Given the description of an element on the screen output the (x, y) to click on. 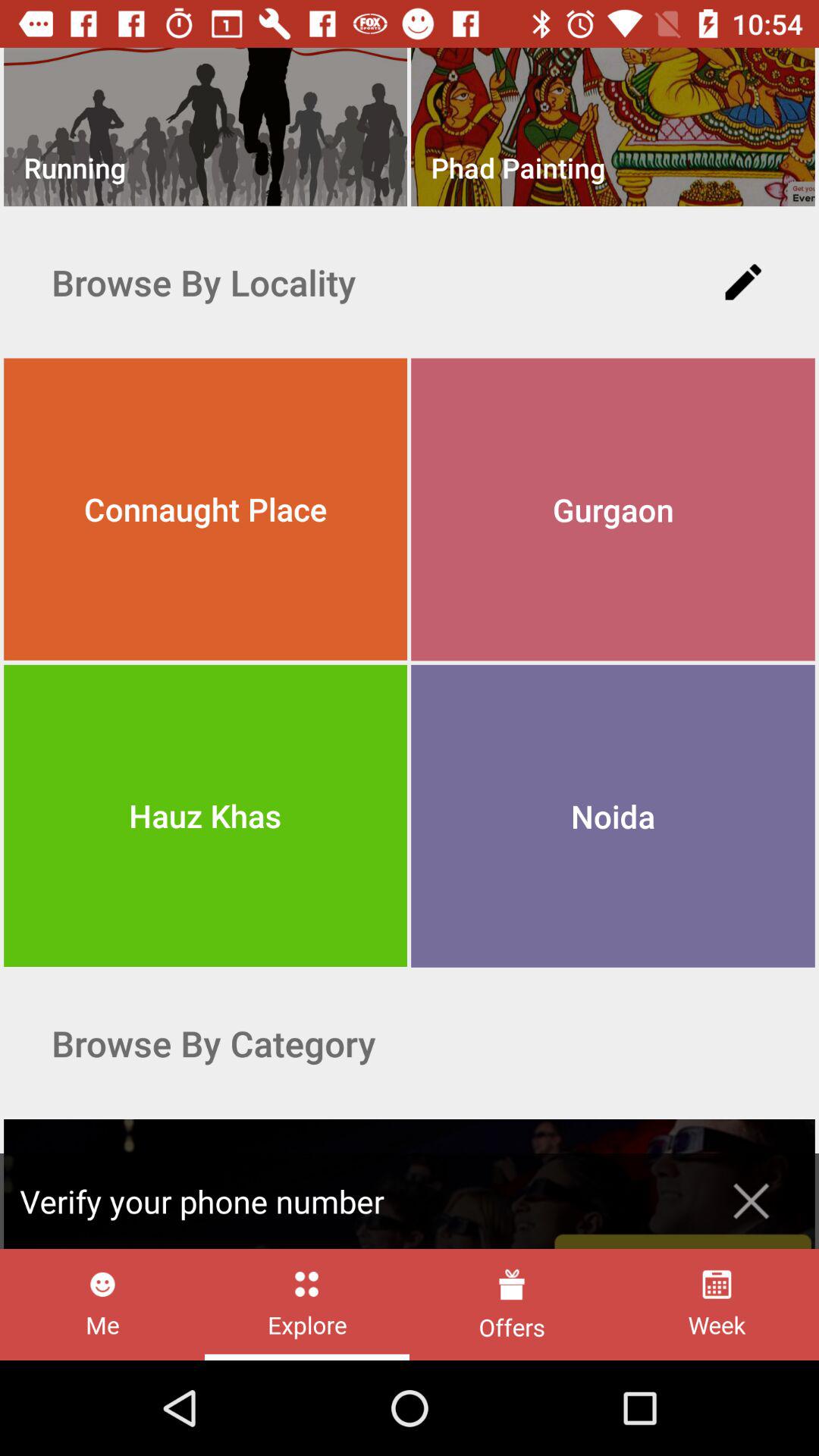
turn off the item at the bottom left corner (101, 1304)
